Given the description of an element on the screen output the (x, y) to click on. 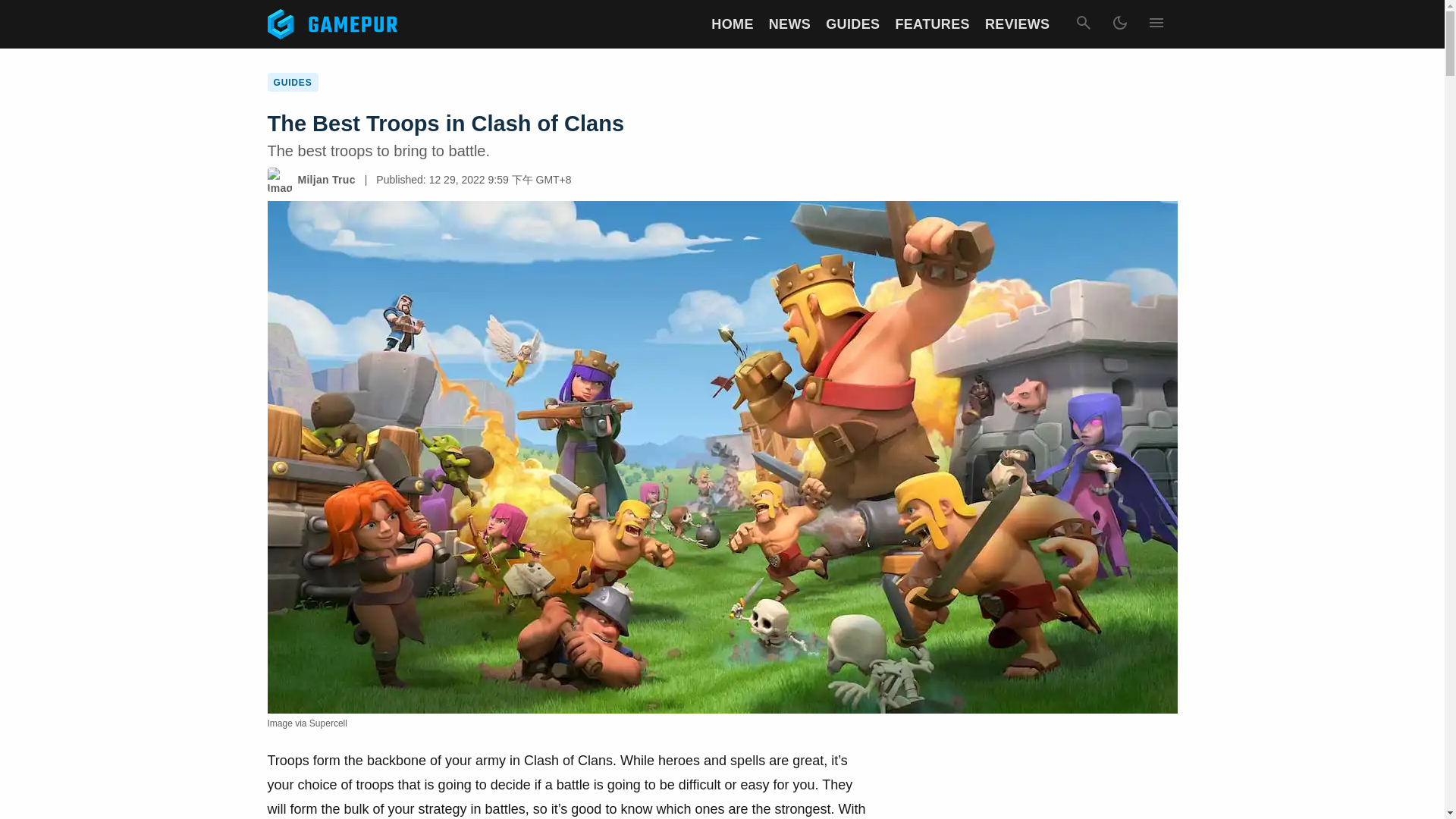
HOME (731, 23)
GUIDES (852, 23)
Dark Mode (1118, 23)
REVIEWS (1017, 23)
Expand Menu (1155, 23)
Search (1082, 23)
FEATURES (932, 23)
NEWS (789, 23)
